Given the description of an element on the screen output the (x, y) to click on. 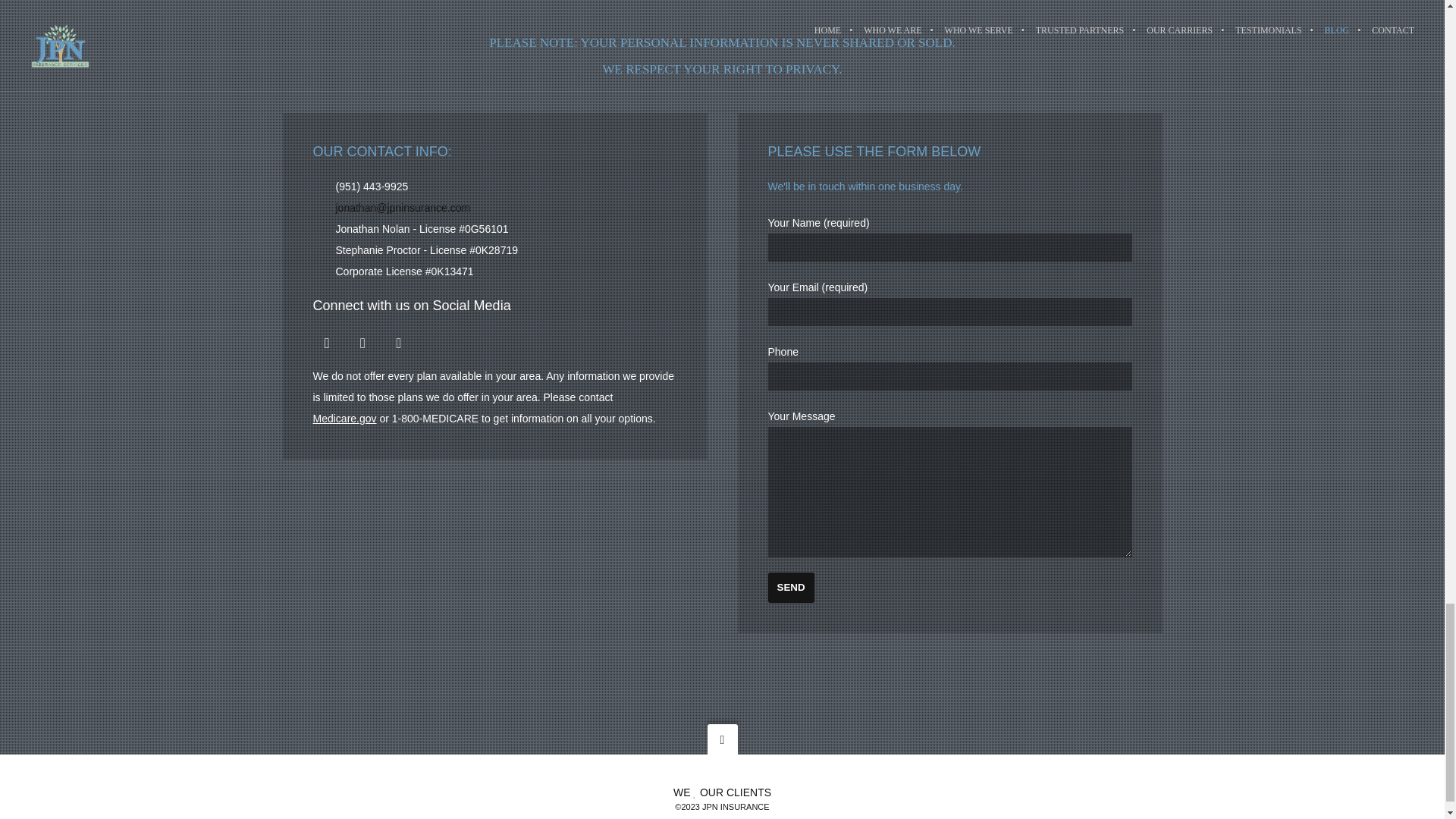
Send (790, 587)
Send (790, 587)
Medicare.gov (344, 418)
